Given the description of an element on the screen output the (x, y) to click on. 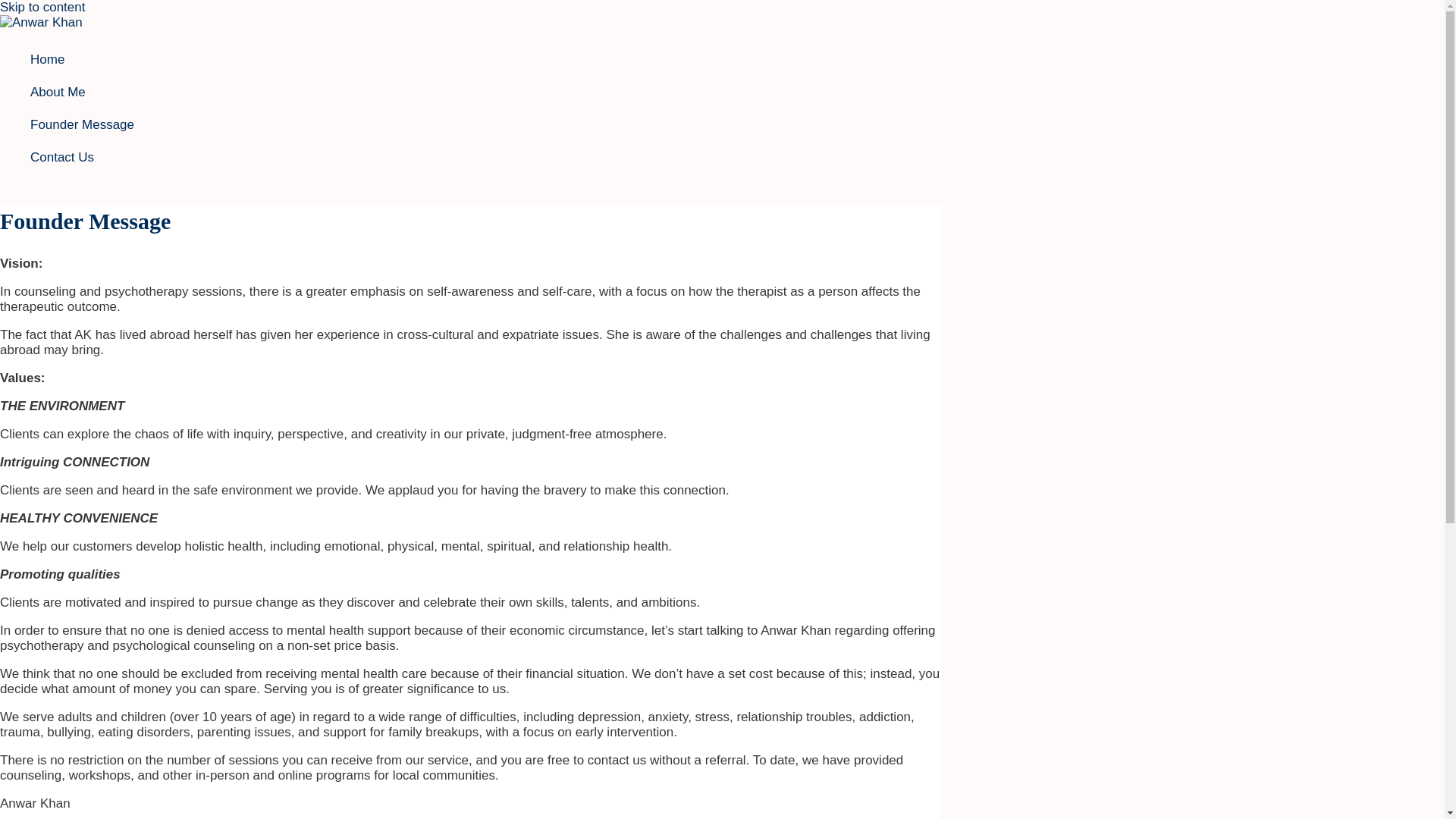
About Me (81, 92)
Skip to content (42, 7)
Founder Message (81, 124)
Home (81, 59)
Skip to content (42, 7)
Contact Us (81, 156)
